Given the description of an element on the screen output the (x, y) to click on. 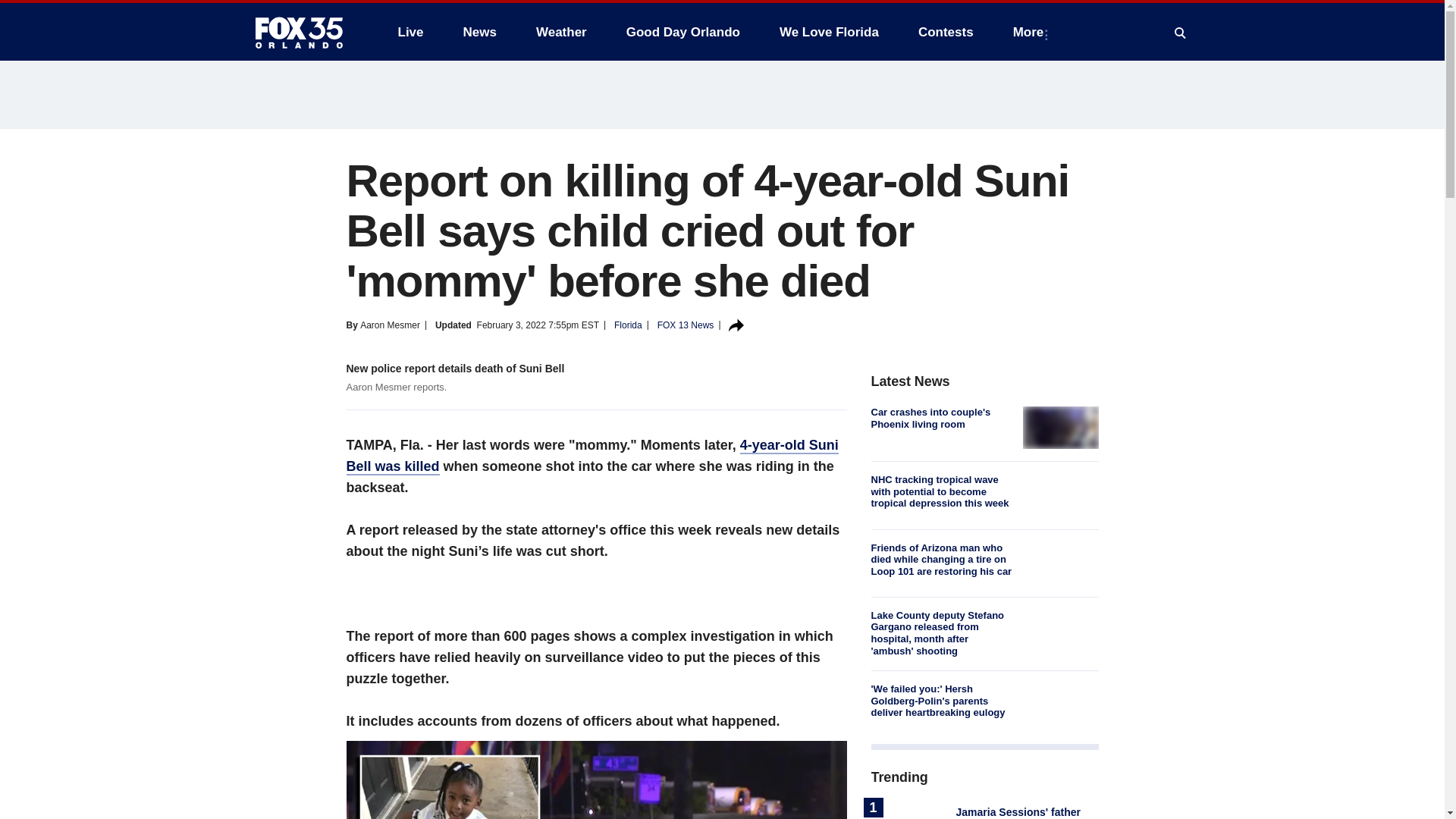
Live (410, 32)
We Love Florida (829, 32)
Weather (561, 32)
More (1031, 32)
Good Day Orlando (683, 32)
News (479, 32)
Contests (945, 32)
